Given the description of an element on the screen output the (x, y) to click on. 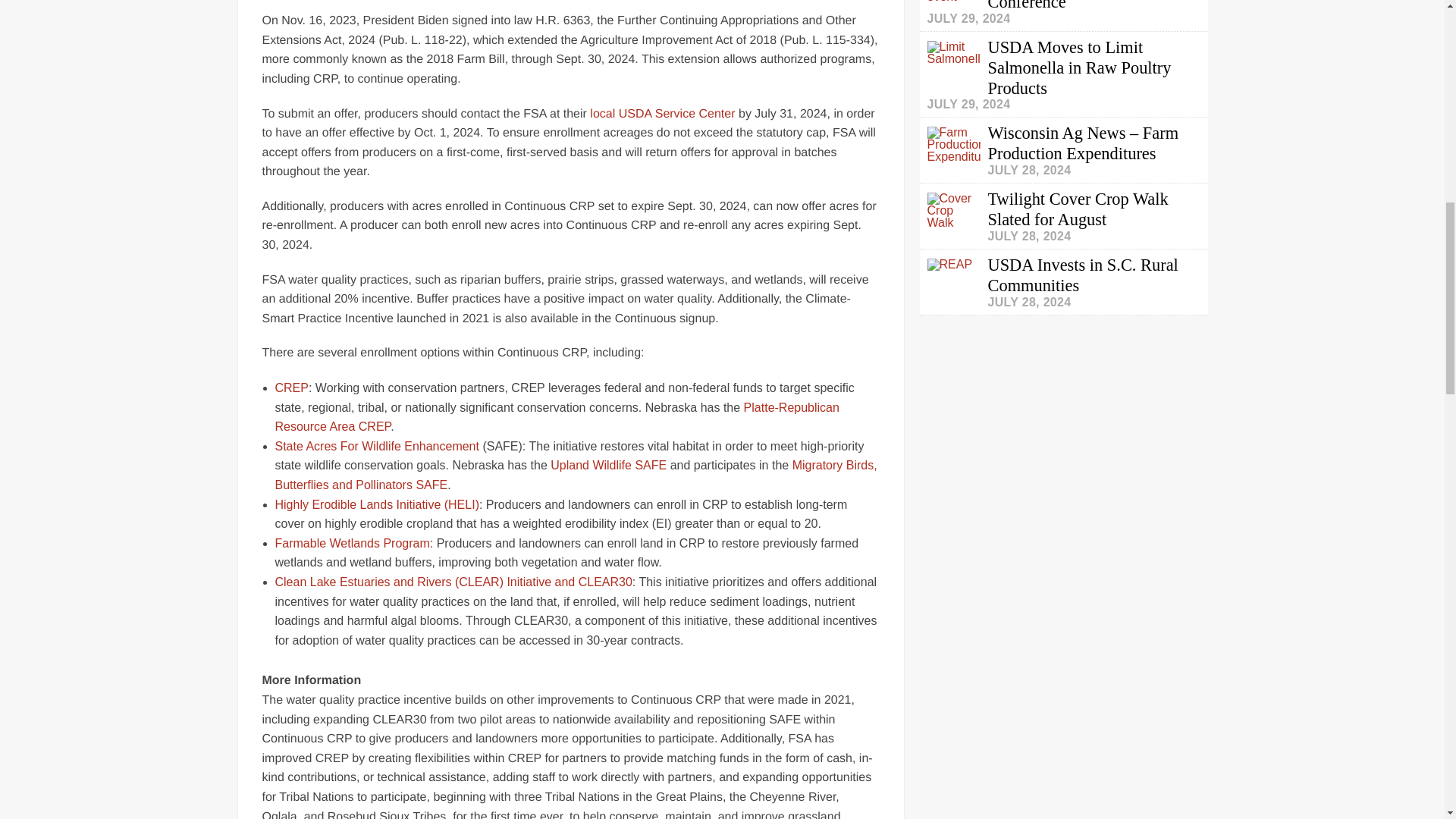
CLEAR Initiative information (453, 581)
Service Center Locator (662, 113)
HELI page (377, 504)
Migratory Bird SAFE (575, 474)
Upland Wildlife SAFE (608, 464)
Platte Republican CREP (556, 417)
SAFE Fact Sheet (378, 445)
Farmable Wetlands Program (352, 543)
CREP page (291, 387)
